Given the description of an element on the screen output the (x, y) to click on. 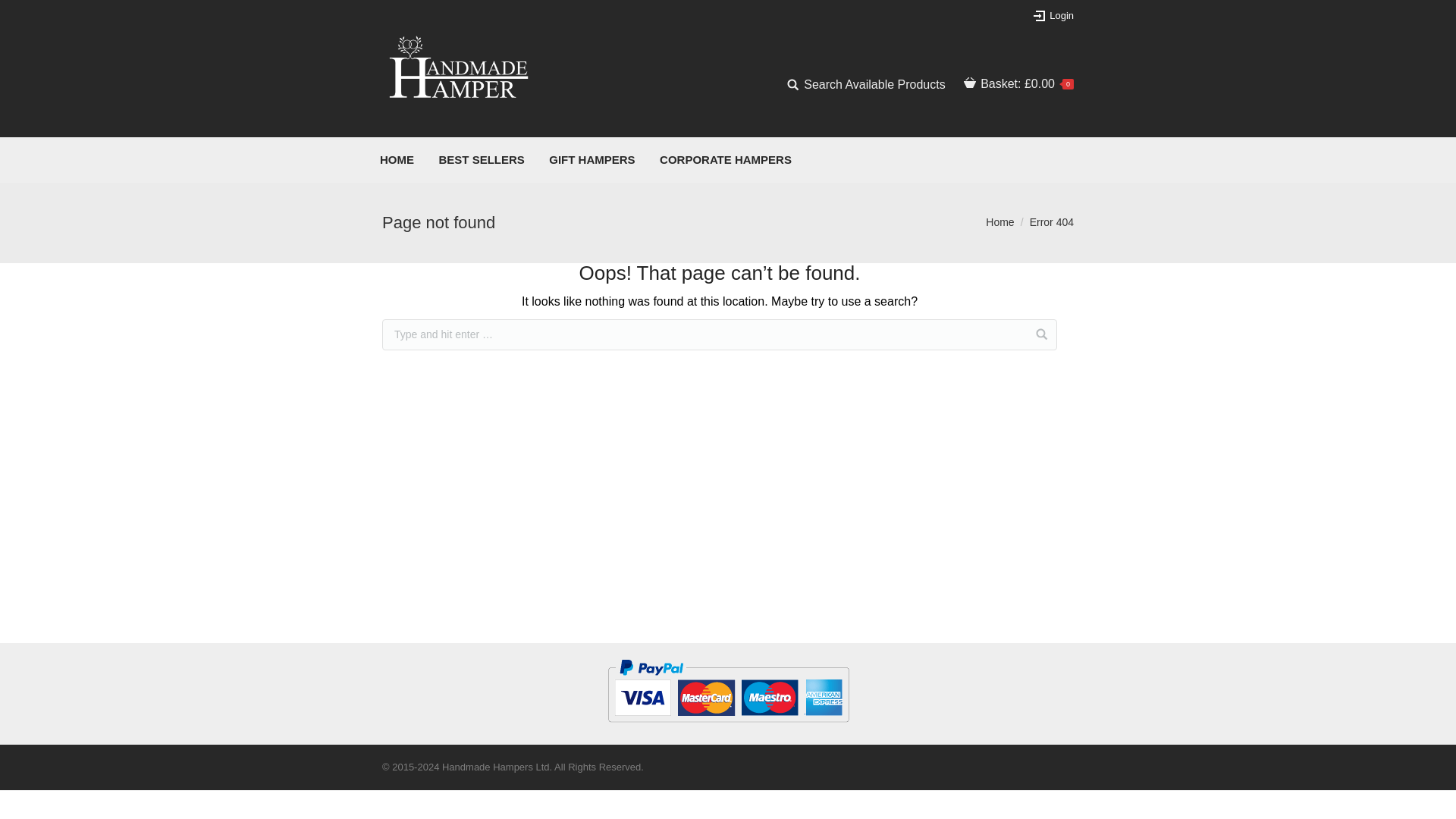
GIFT HAMPERS (591, 159)
Go! (21, 13)
Search Available Products (865, 84)
Login (1053, 15)
HOME (396, 159)
BEST SELLERS (481, 159)
CORPORATE HAMPERS (725, 159)
How PayPal Works (727, 727)
